Given the description of an element on the screen output the (x, y) to click on. 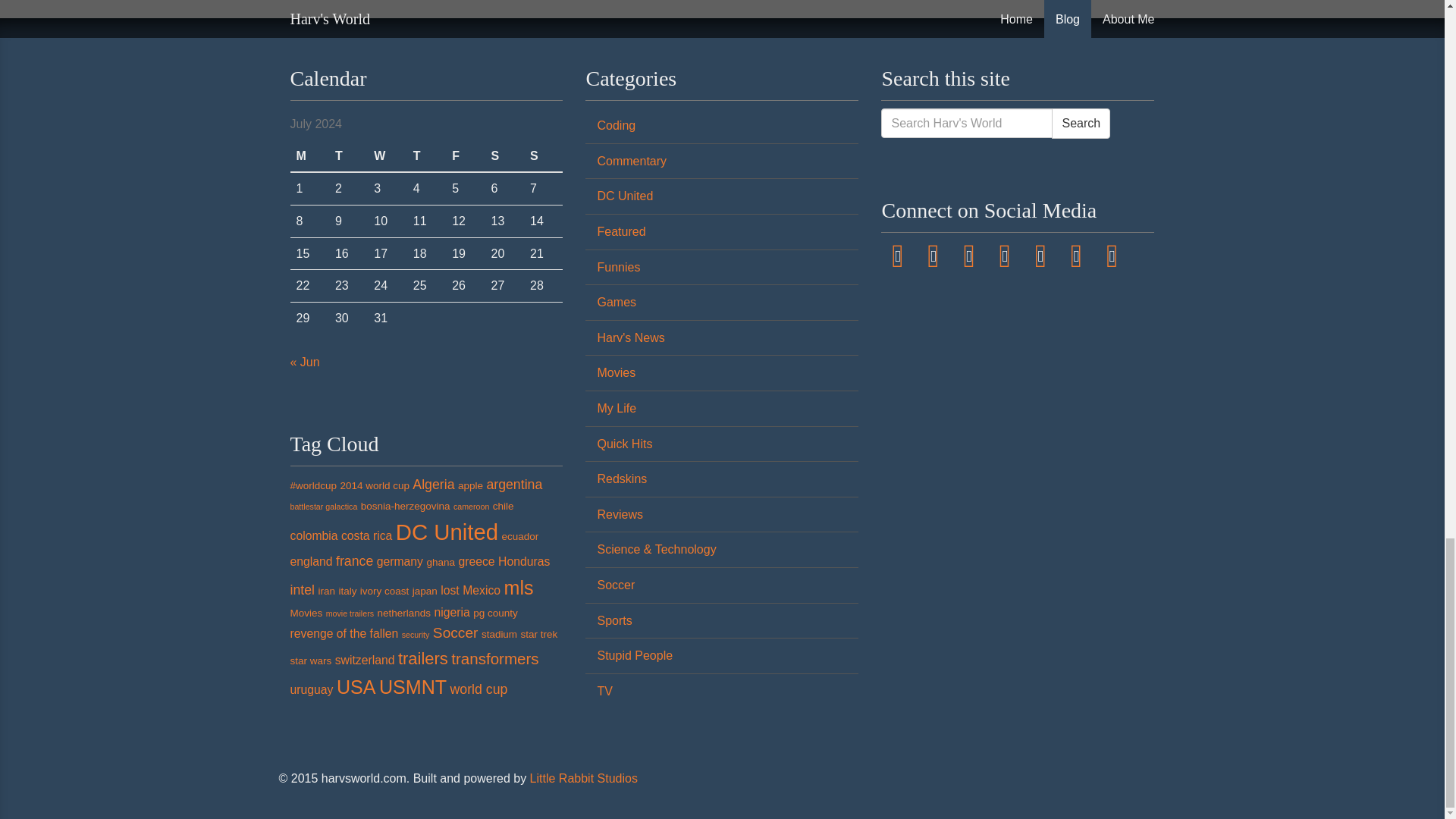
apple (470, 485)
Saturday (504, 156)
Thursday (426, 156)
Monday (309, 156)
2014 world cup (374, 485)
battlestar galactica (322, 506)
france (354, 560)
DC United (446, 531)
Sunday (543, 156)
costa rica (365, 535)
england (310, 561)
Friday (464, 156)
bosnia-herzegovina (405, 505)
argentina (513, 484)
Tuesday (348, 156)
